Given the description of an element on the screen output the (x, y) to click on. 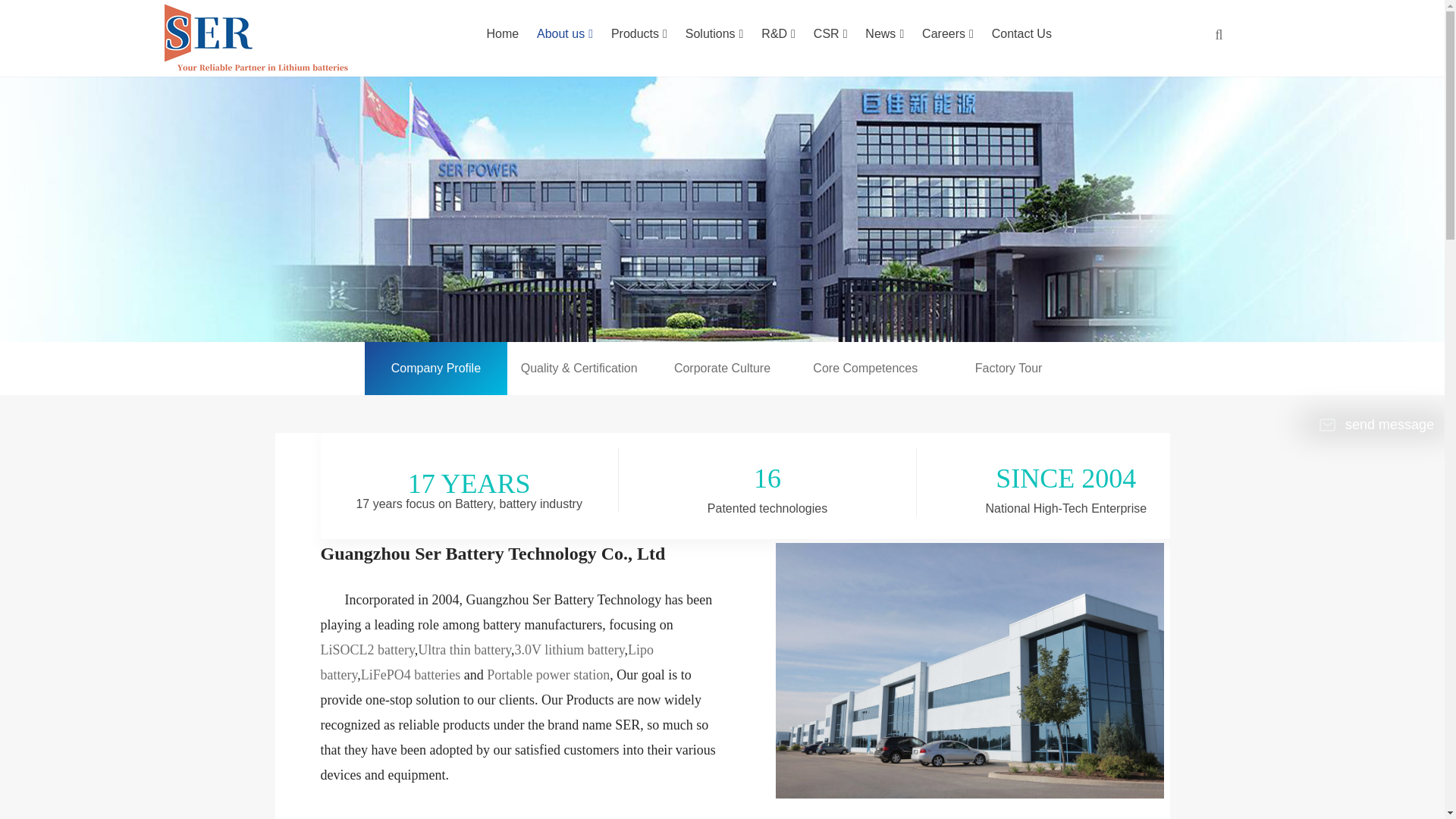
Solutions (714, 33)
LiFePO4 batteries (410, 674)
SERui Battery (968, 670)
Lipo battery (486, 662)
Careers (947, 33)
3.0V Lithium battery (569, 649)
LiSOCL2 battery (366, 649)
Ultra thin battery (464, 649)
Portable power station (548, 674)
Products (639, 33)
About us (564, 33)
